Given the description of an element on the screen output the (x, y) to click on. 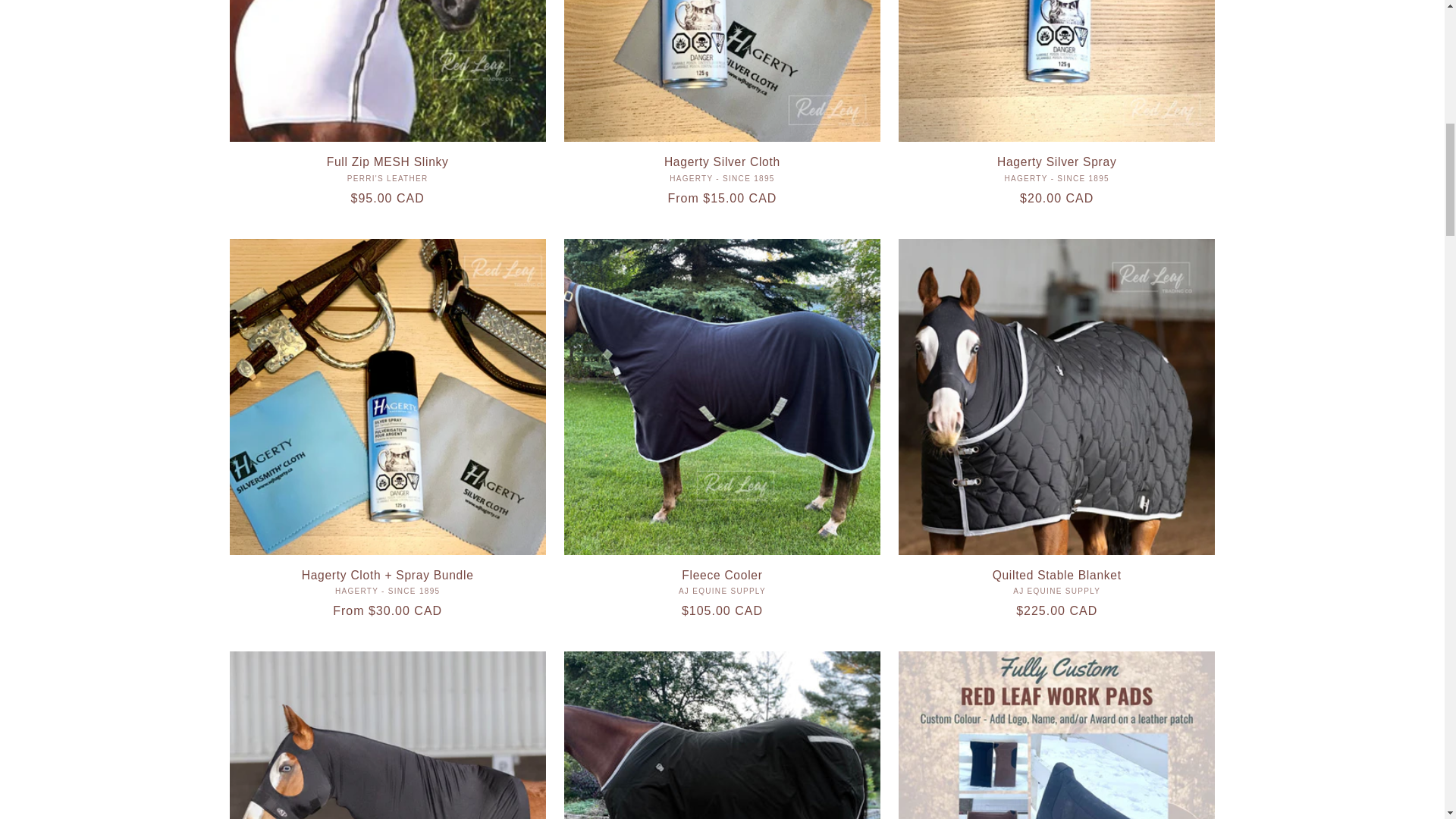
Quilted Stable Blanket (1056, 575)
Fleece Cooler (722, 575)
Hagerty Silver Cloth (722, 161)
Hagerty Silver Spray (1056, 161)
Full Zip MESH Slinky (386, 161)
